Given the description of an element on the screen output the (x, y) to click on. 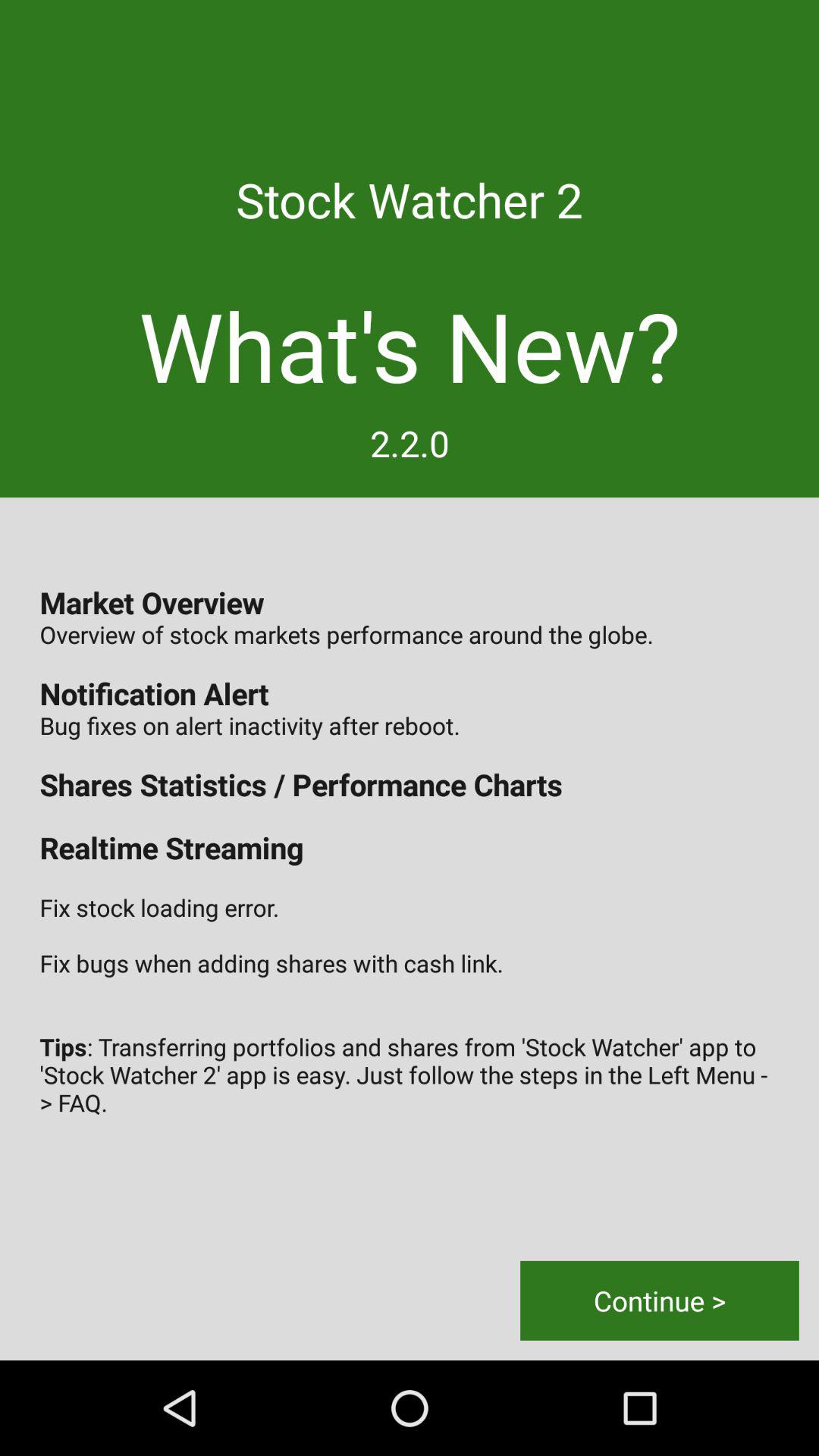
scroll until the continue > button (659, 1300)
